Given the description of an element on the screen output the (x, y) to click on. 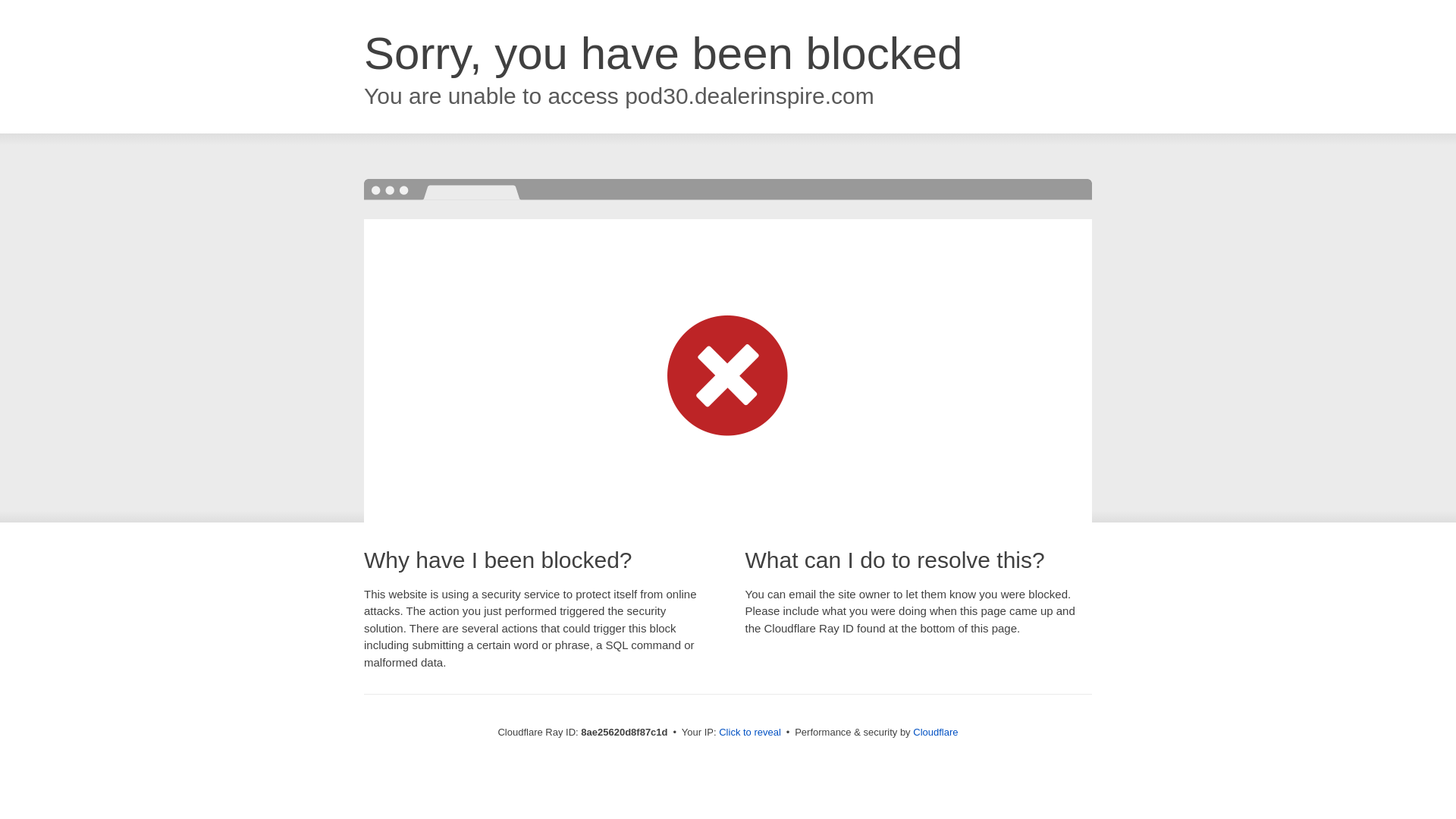
Click to reveal (749, 732)
Cloudflare (935, 731)
